Given the description of an element on the screen output the (x, y) to click on. 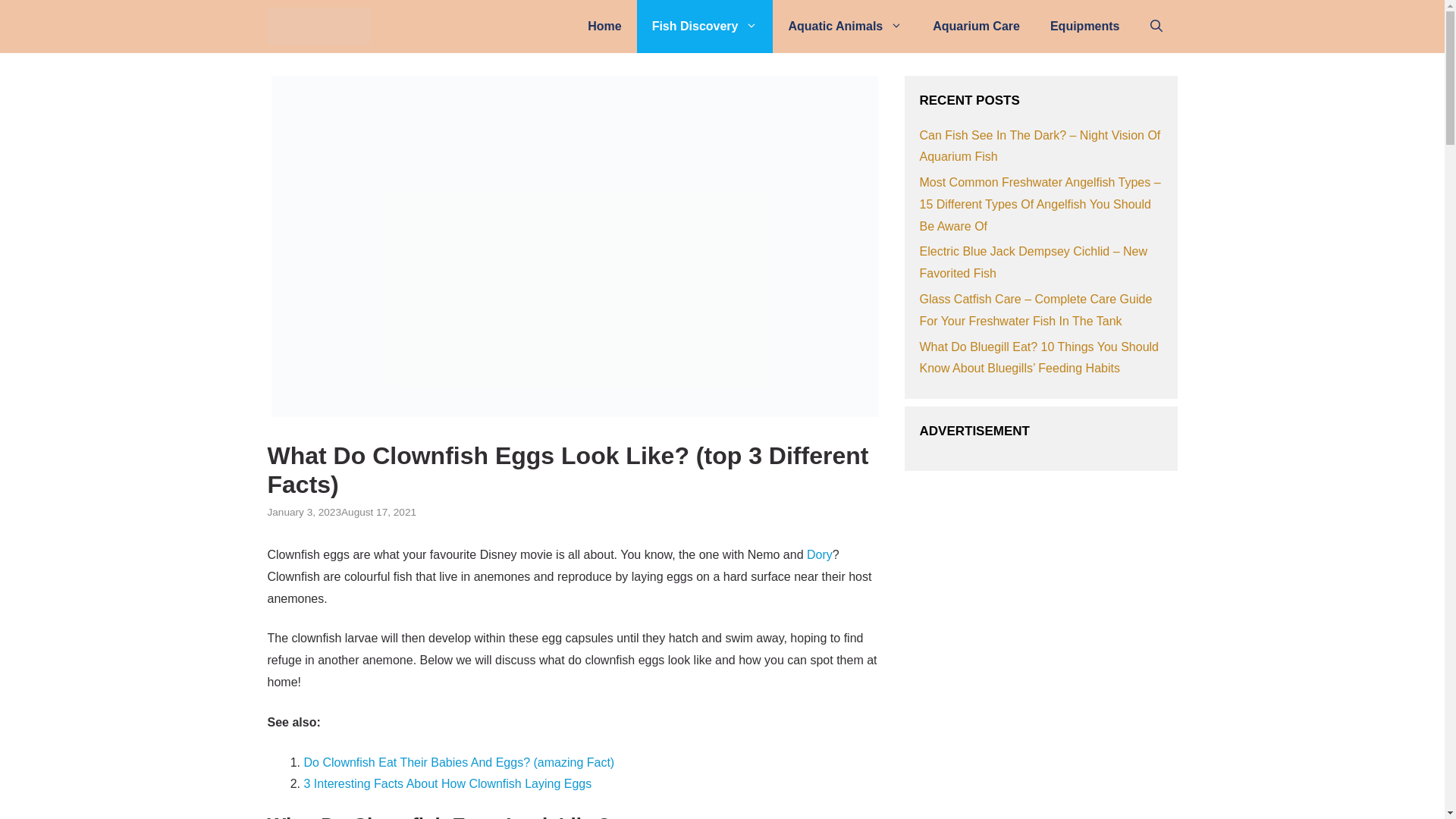
Aquarium Care (976, 26)
Fish Discovery (705, 26)
Home (604, 26)
3 Interesting Facts About How Clownfish Laying Eggs (446, 783)
Aquatic Animals (845, 26)
AquariumCircle (318, 26)
AquariumCircle (322, 26)
Equipments (1085, 26)
Dory (819, 554)
